Given the description of an element on the screen output the (x, y) to click on. 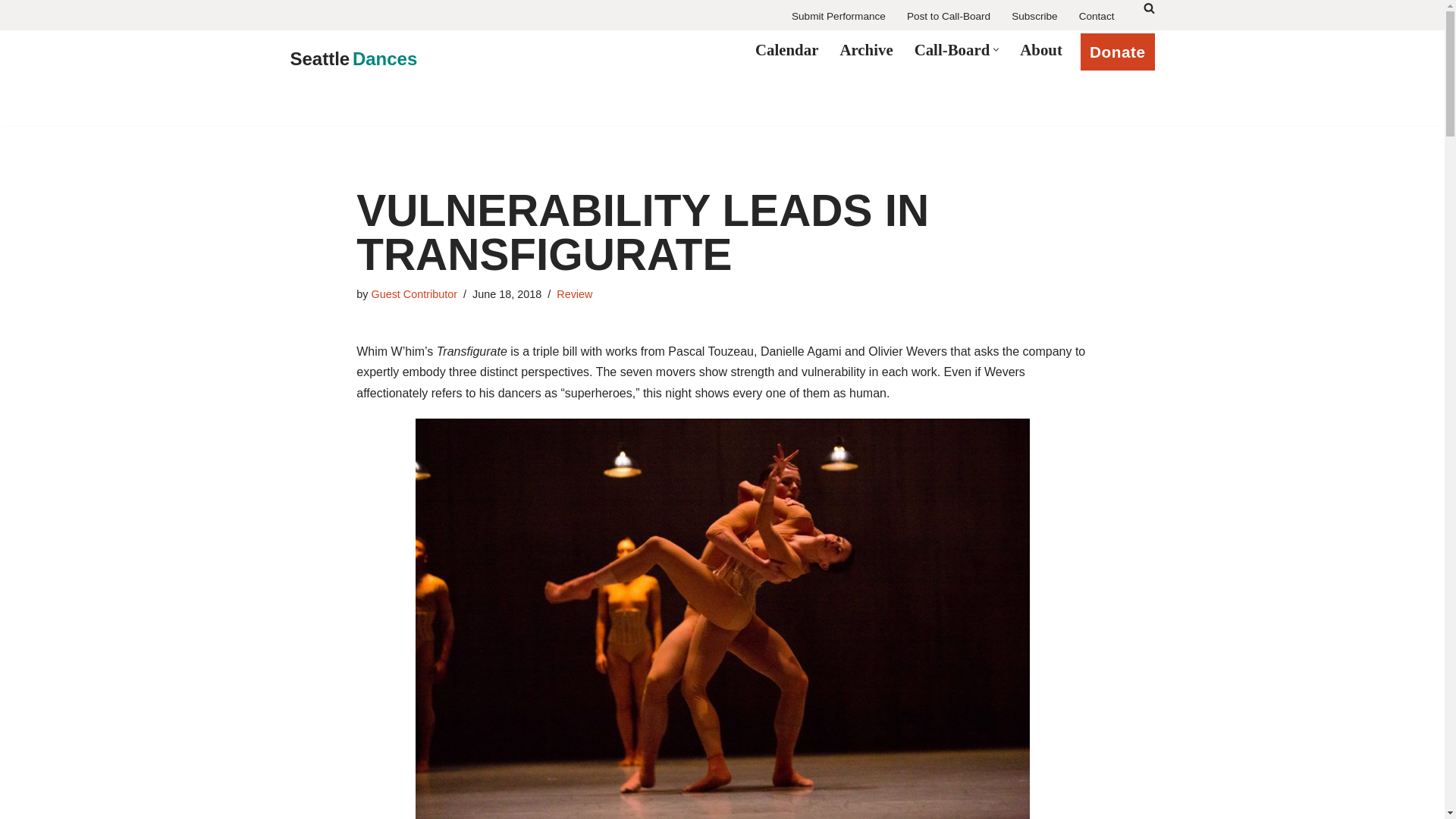
About (1041, 49)
Post to Call-Board (948, 16)
Contact (1096, 16)
Skip to content (11, 31)
Subscribe (1034, 16)
Calendar (786, 49)
Archive (866, 49)
Posts by Guest Contributor (414, 294)
Call-Board (952, 49)
Seattle Dances (352, 59)
Guest Contributor (414, 294)
Submit Performance (838, 16)
Donate (1117, 51)
